Given the description of an element on the screen output the (x, y) to click on. 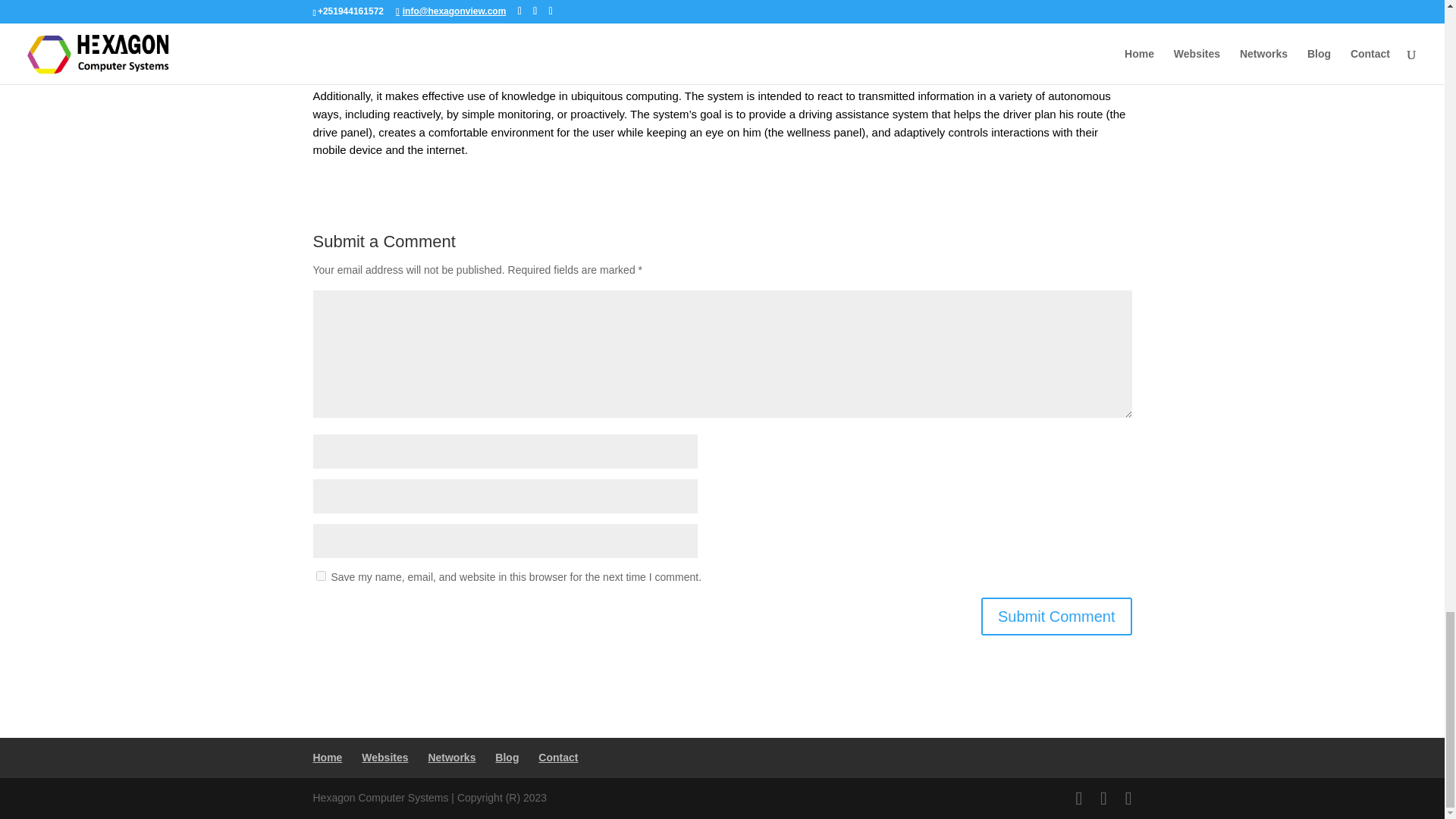
Blog (506, 756)
Submit Comment (1056, 616)
Networks (452, 756)
Submit Comment (1056, 616)
Home (327, 756)
Contact (558, 756)
Websites (384, 756)
yes (319, 575)
